Given the description of an element on the screen output the (x, y) to click on. 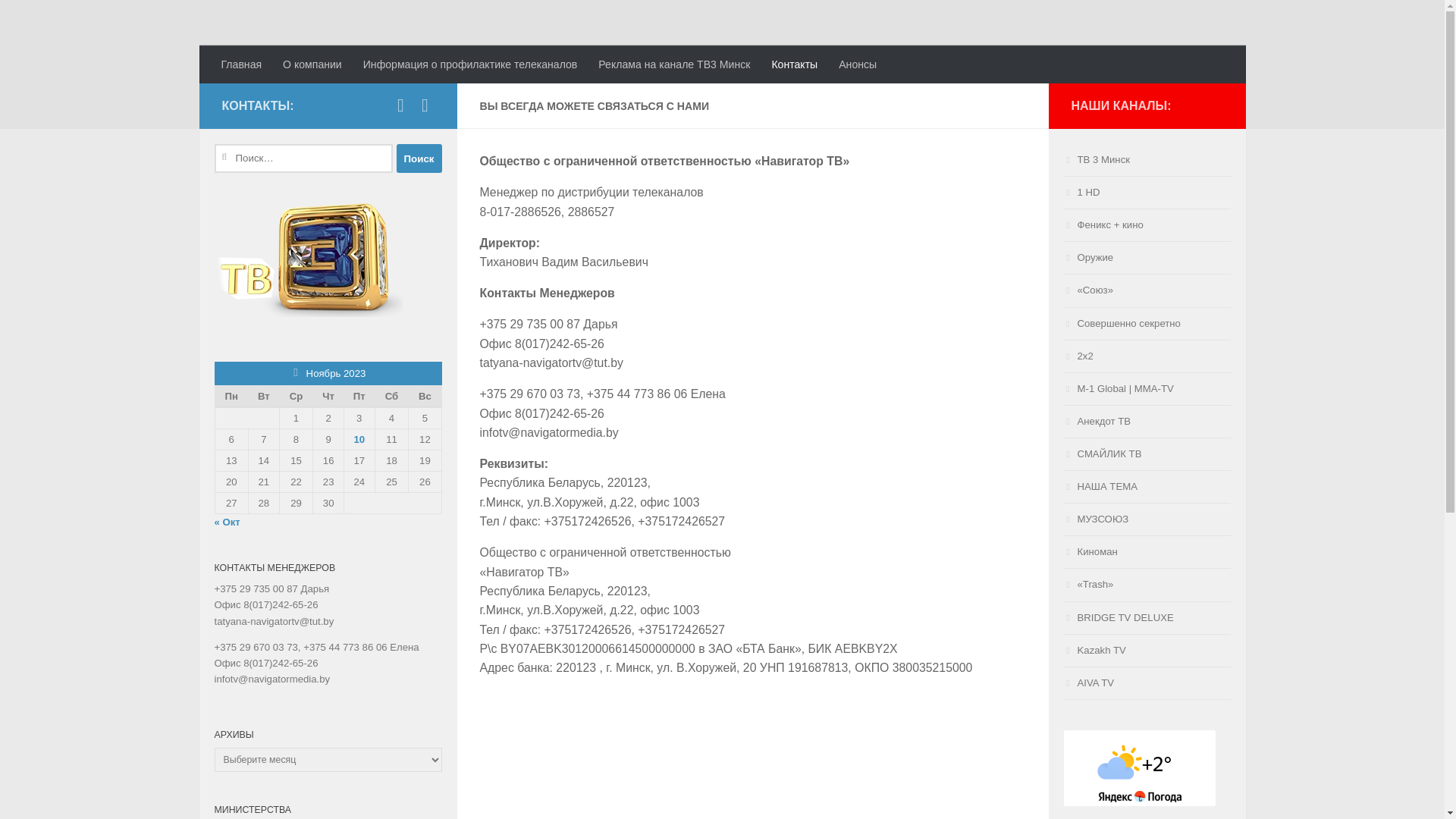
M-1 Global | MMA-TV Element type: text (1146, 389)
BRIDGE TV DELUXE Element type: text (1146, 618)
Kazakh TV Element type: text (1146, 650)
10 Element type: text (358, 439)
1 HD Element type: text (1146, 192)
AIVA TV Element type: text (1146, 683)
